Given the description of an element on the screen output the (x, y) to click on. 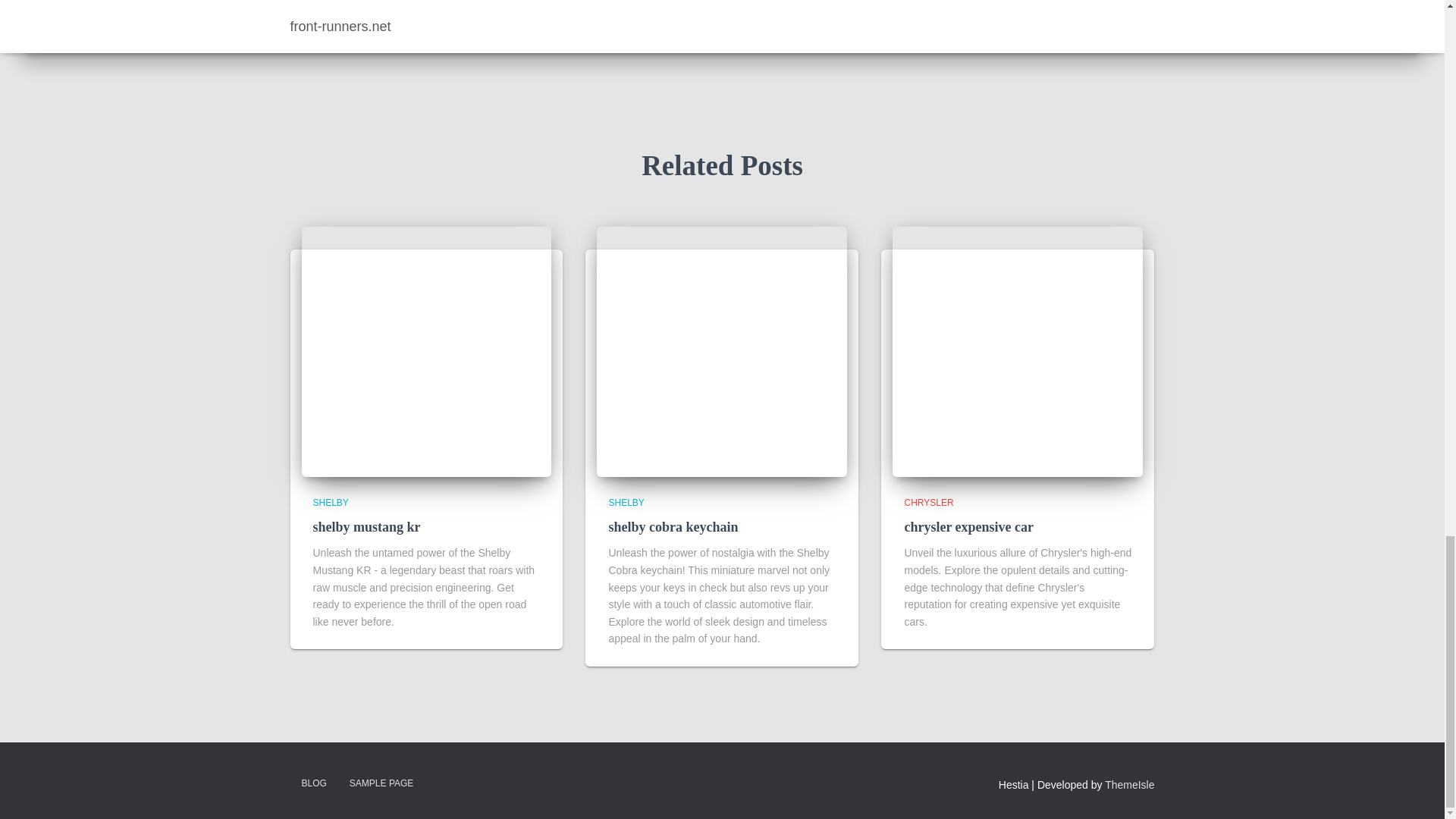
View all posts in Shelby (330, 502)
Uncategorized (996, 15)
shelby mustang kr (366, 526)
shelby mustang kr (366, 526)
chrysler expensive car (1017, 351)
SHELBY (625, 502)
shelby cobra keychain (721, 351)
SHELBY (330, 502)
View all posts in Shelby (625, 502)
chrysler expensive car (968, 526)
